Given the description of an element on the screen output the (x, y) to click on. 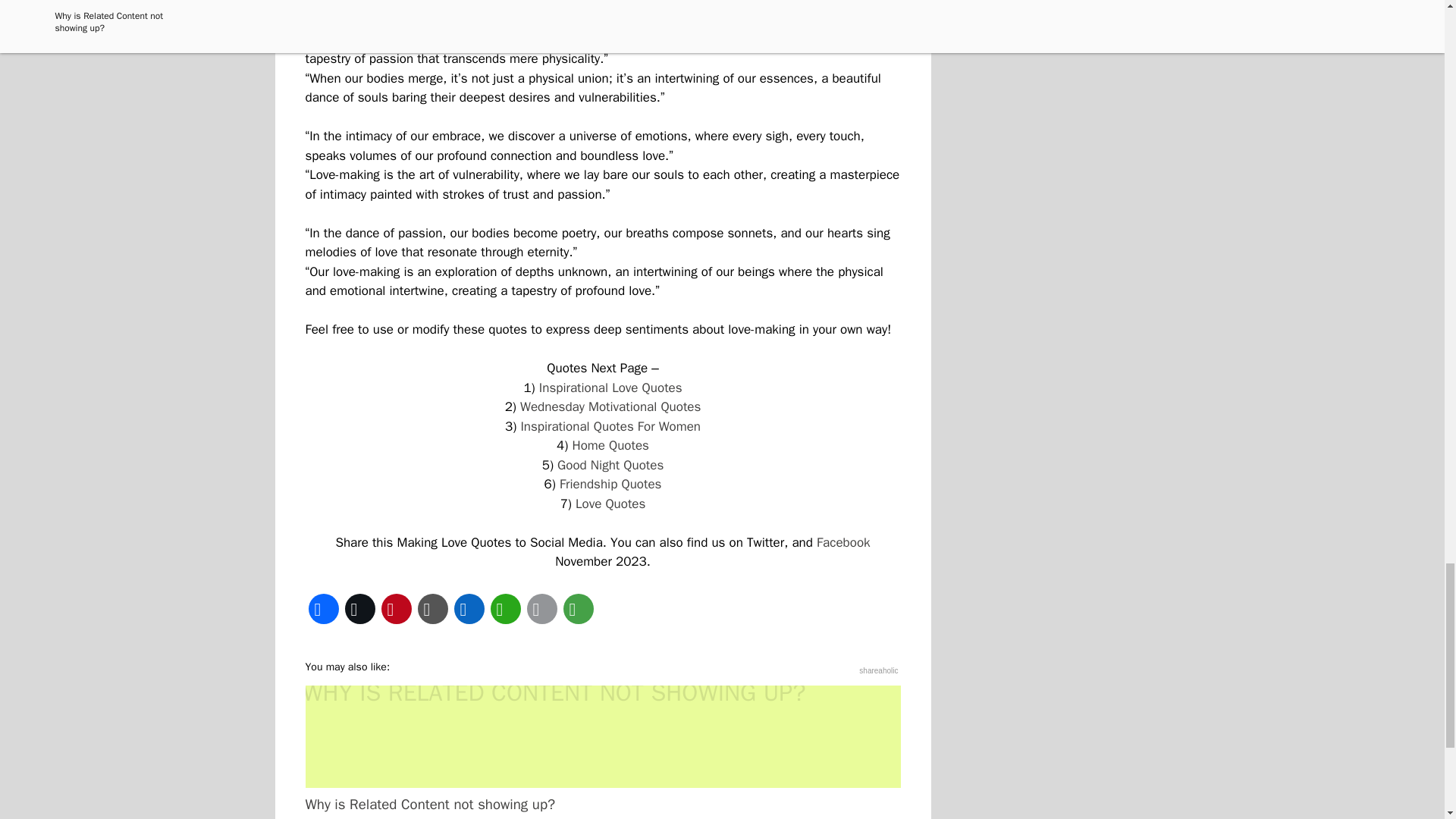
Facebook (843, 541)
Inspirational Love Quotes (610, 386)
Friendship Quotes (610, 483)
Love Quotes (610, 503)
Wednesday Motivational Quotes (609, 406)
Copy Link (431, 608)
Facebook (322, 608)
Inspirational Quotes For Women (609, 426)
shareaholic (878, 669)
Pinterest (395, 608)
Good Night Quotes (610, 464)
Home Quotes (610, 445)
